Given the description of an element on the screen output the (x, y) to click on. 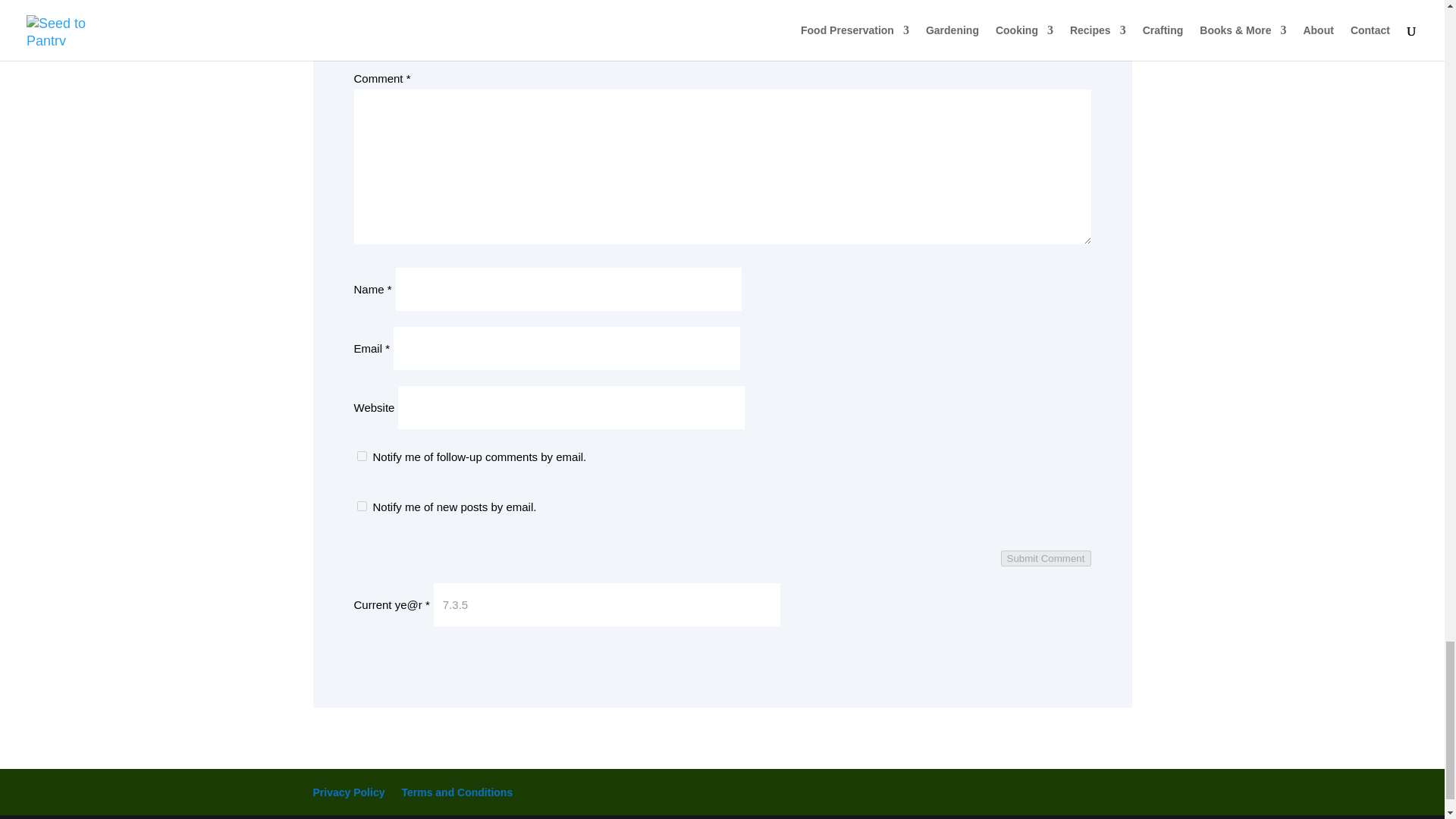
7.3.5 (606, 604)
subscribe (361, 506)
subscribe (361, 456)
